Given the description of an element on the screen output the (x, y) to click on. 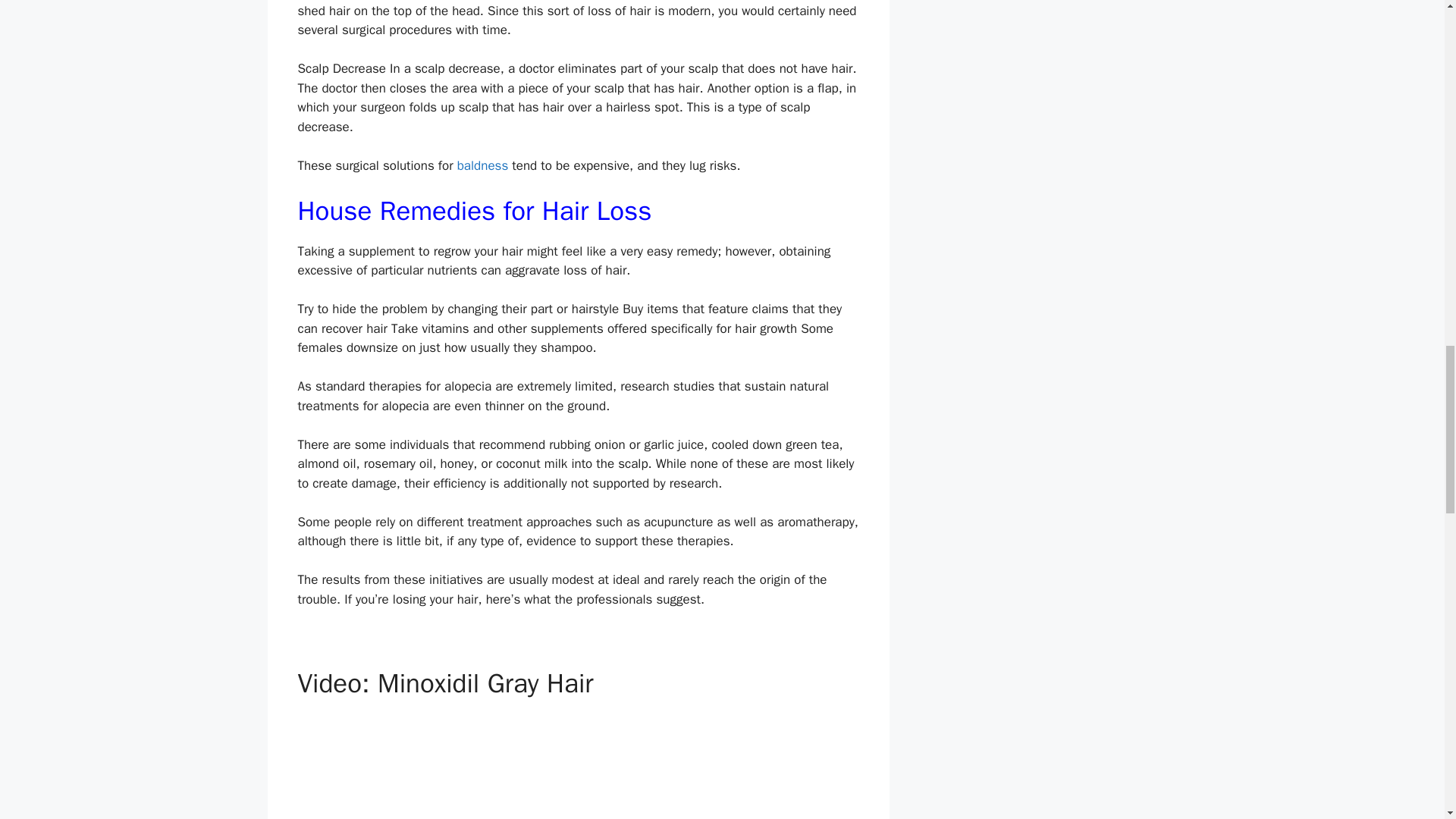
baldness (482, 165)
